Given the description of an element on the screen output the (x, y) to click on. 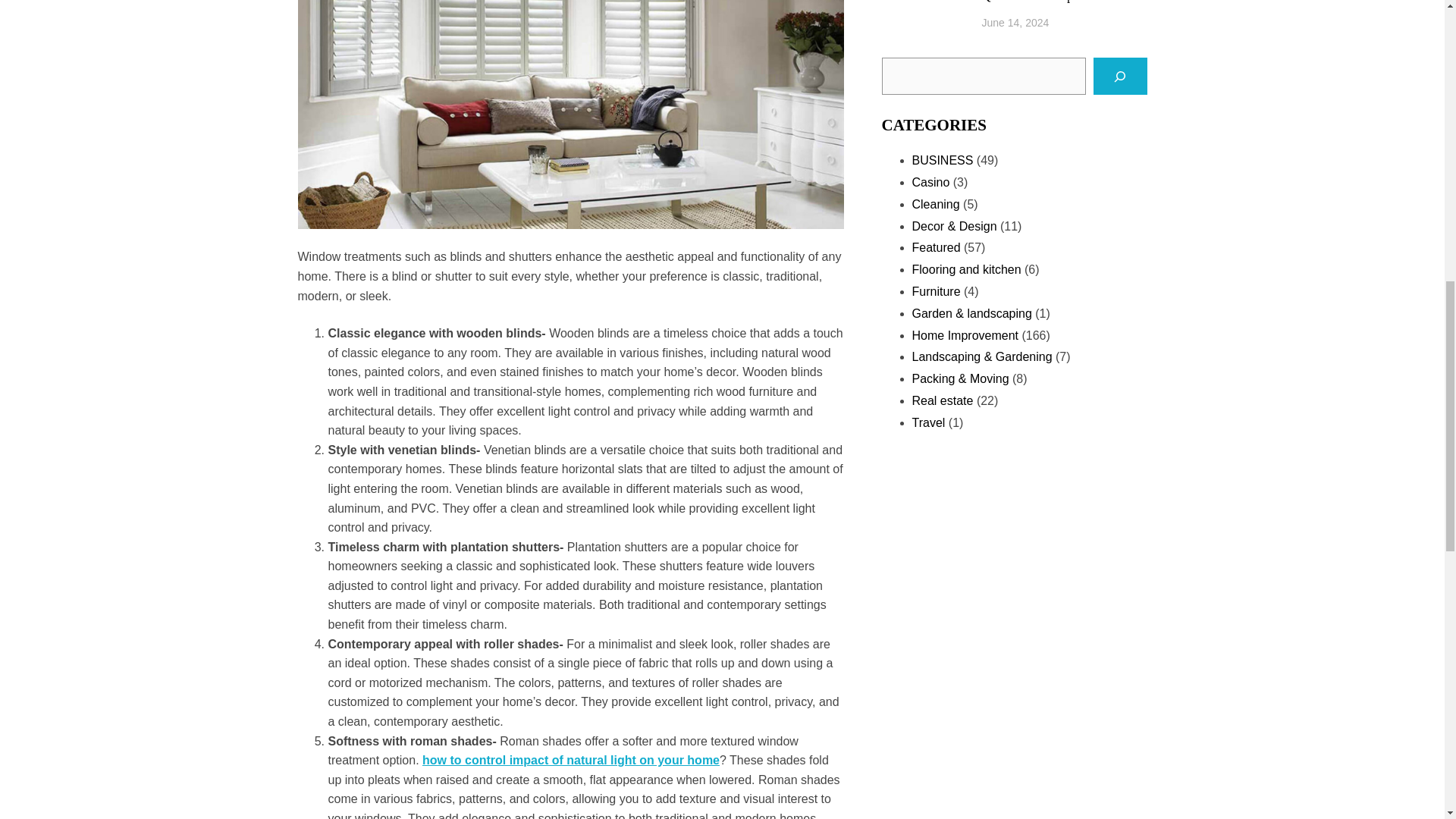
Furniture (935, 291)
Travel (927, 422)
Flooring and kitchen (965, 269)
Casino (930, 182)
BUSINESS (941, 160)
We Buy Houses in Michigan: Quick and Transparent Sales (1064, 2)
June 14, 2024 (1015, 22)
how to control impact of natural light on your home (570, 759)
Cleaning (935, 204)
Home Improvement (964, 335)
Featured (935, 246)
Real estate (941, 400)
